Given the description of an element on the screen output the (x, y) to click on. 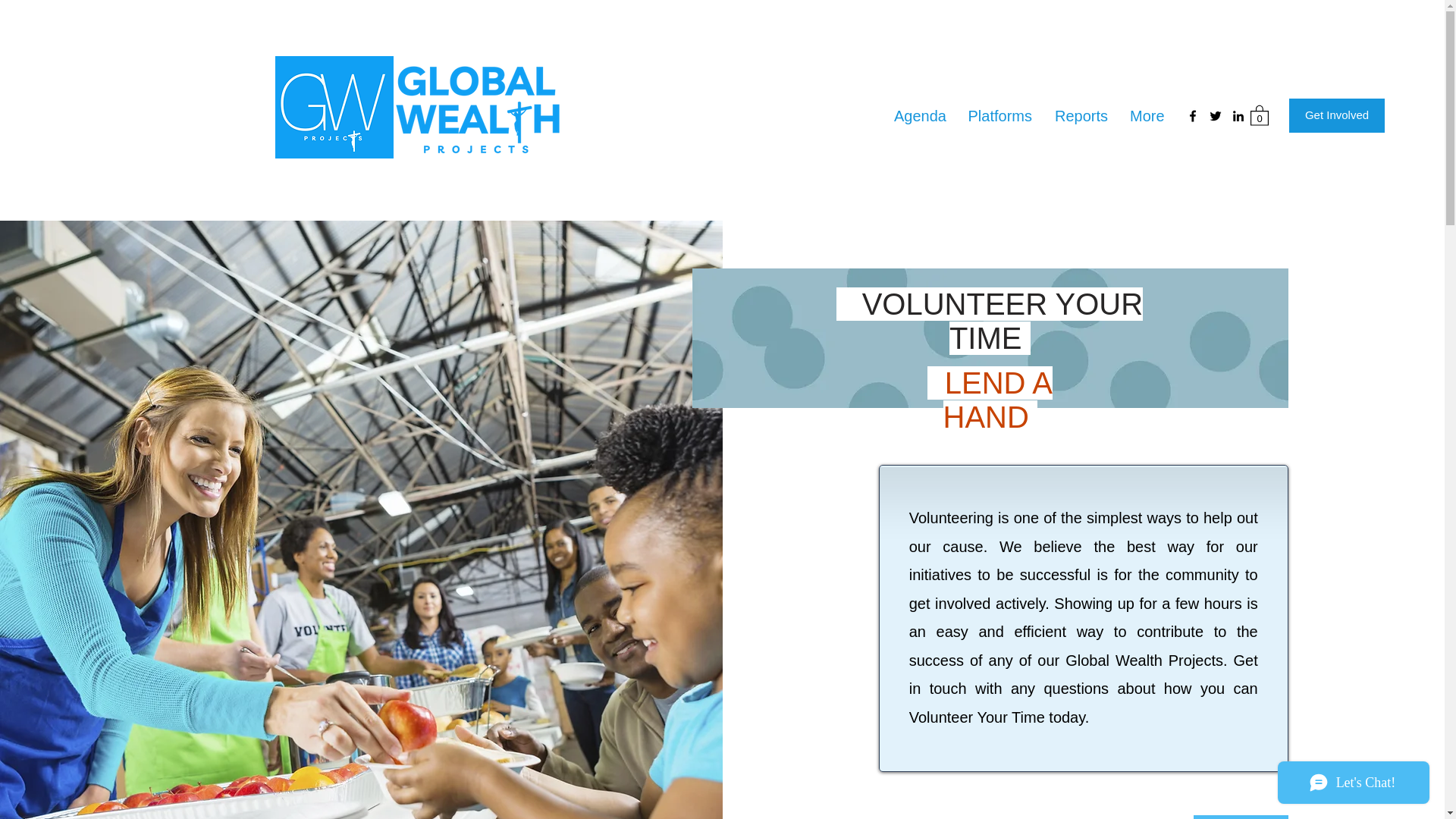
Get in Touch (1240, 816)
Reports (1080, 115)
Get Involved (1336, 115)
9.png (334, 107)
Agenda (919, 115)
Platforms (999, 115)
